Given the description of an element on the screen output the (x, y) to click on. 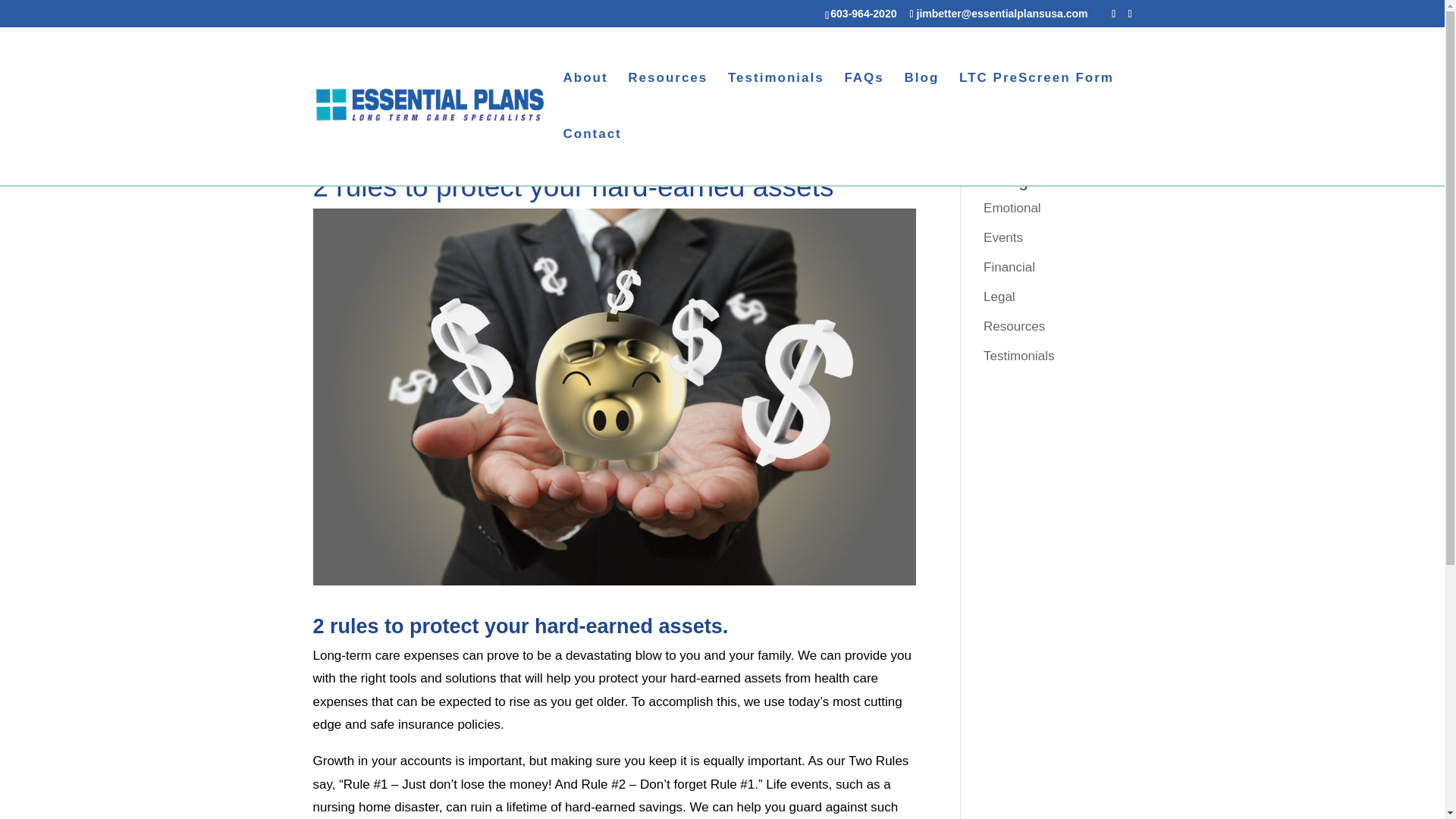
Events (1003, 237)
Testimonials (1019, 355)
Contact (591, 156)
Emotional (1012, 207)
LTC PreScreen Form (1036, 100)
Financial (1009, 267)
Legal (999, 296)
Testimonials (776, 100)
Resources (1014, 326)
Resources (667, 100)
